Given the description of an element on the screen output the (x, y) to click on. 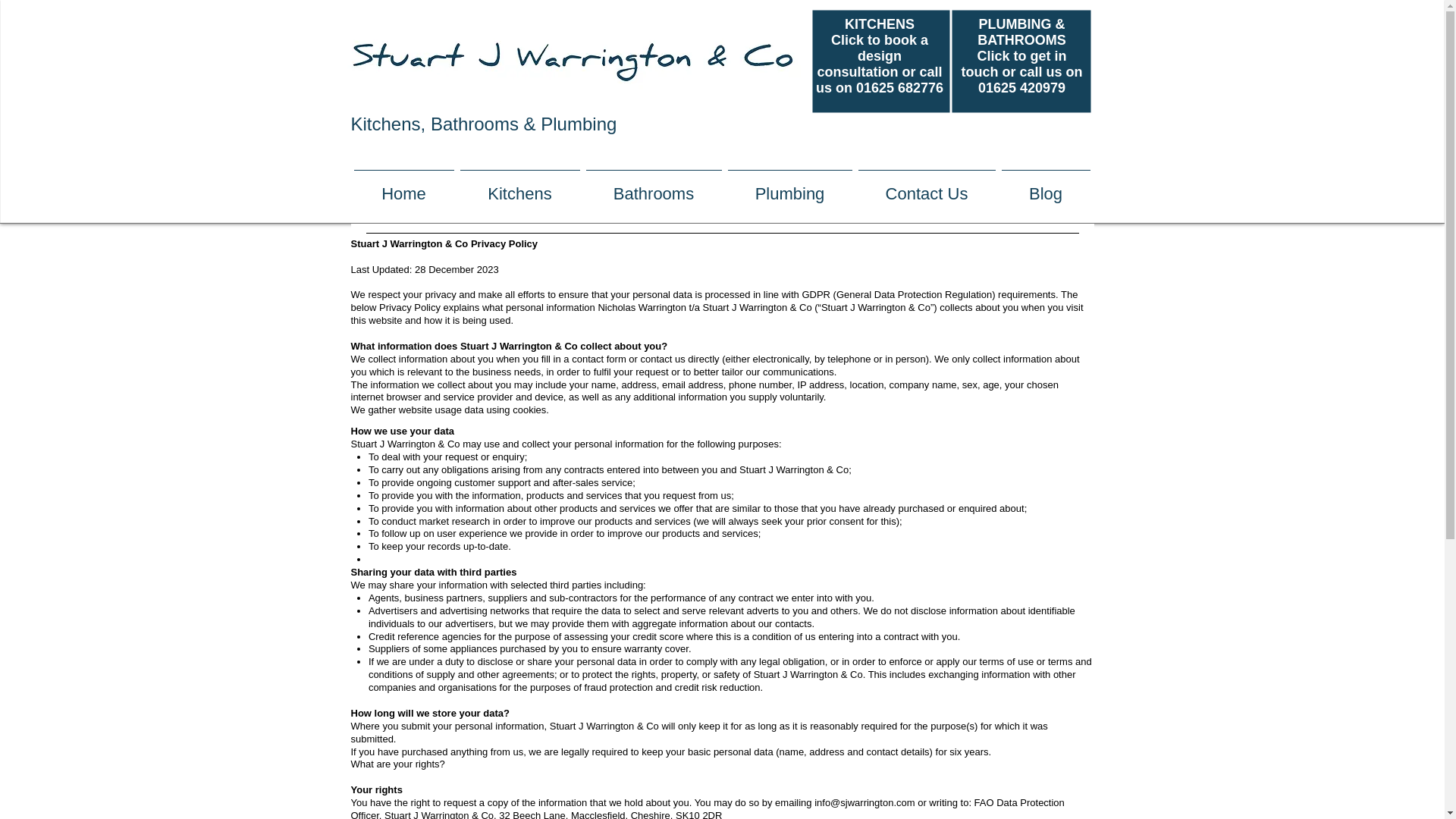
Home (403, 186)
Blog (1045, 186)
Plumbing (790, 186)
Kitchens (519, 186)
Bathrooms (652, 186)
or call us on 01625 420979 (1030, 79)
Contact Us (927, 186)
